Given the description of an element on the screen output the (x, y) to click on. 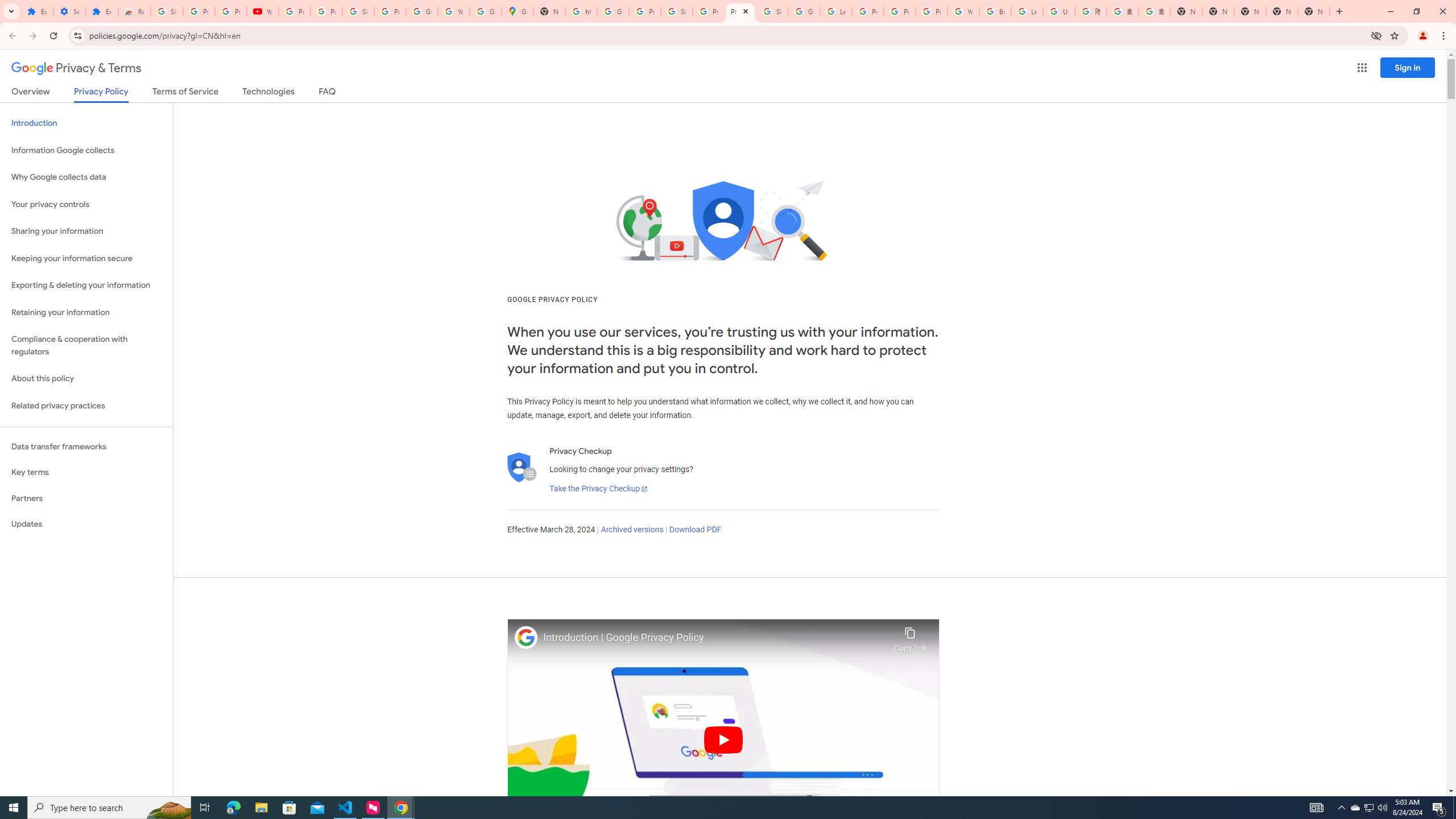
Play (723, 739)
Introduction | Google Privacy Policy (715, 637)
Photo image of Google (526, 636)
Take the Privacy Checkup (597, 488)
